Given the description of an element on the screen output the (x, y) to click on. 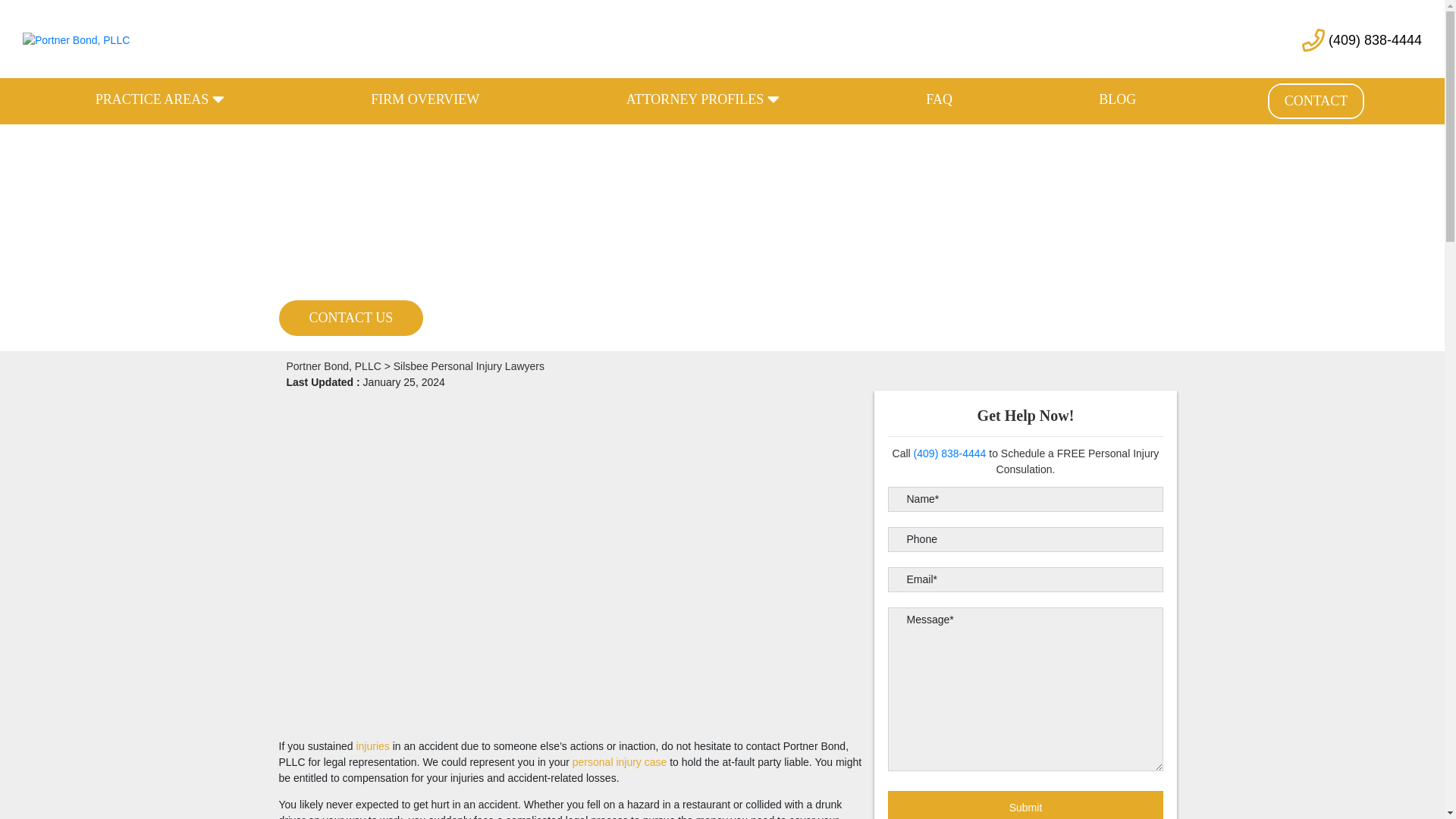
CONTACT US (351, 317)
Submit (1024, 805)
personal injury case (619, 761)
Go to Portner Bond, PLLC. (333, 366)
injuries (371, 746)
FAQ (939, 99)
BLOG (1117, 99)
PRACTICE AREAS (160, 99)
Home (371, 746)
CONTACT (1315, 101)
